Given the description of an element on the screen output the (x, y) to click on. 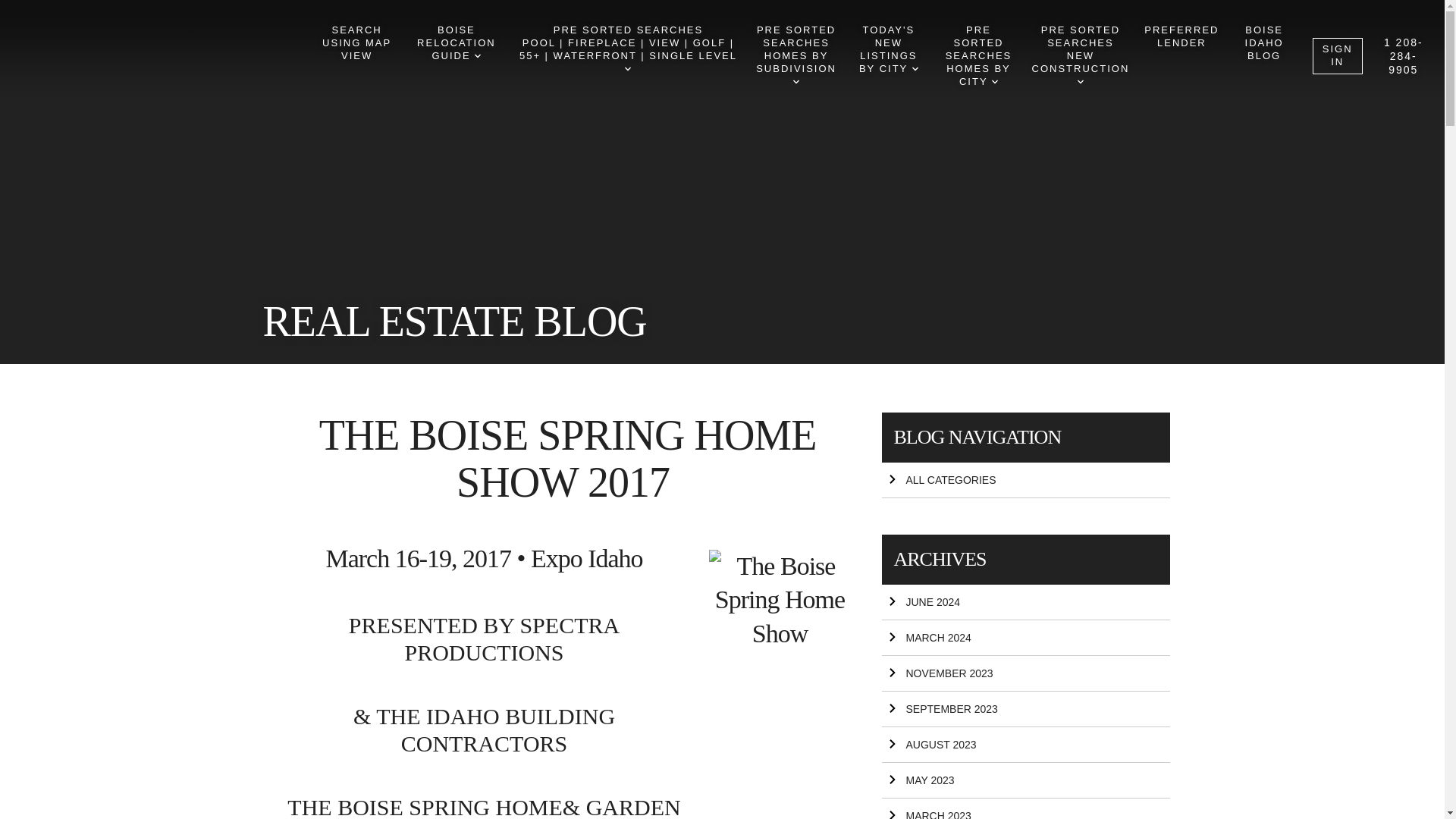
DROPDOWN ARROW (795, 56)
DROPDOWN ARROW (915, 69)
SEARCH USING MAP VIEW (994, 81)
BOISE RELOCATION GUIDE DROPDOWN ARROW (355, 43)
DROPDOWN ARROW (887, 49)
DROPDOWN ARROW (456, 43)
DROPDOWN ARROW (477, 55)
DROPDOWN ARROW (1080, 81)
